Given the description of an element on the screen output the (x, y) to click on. 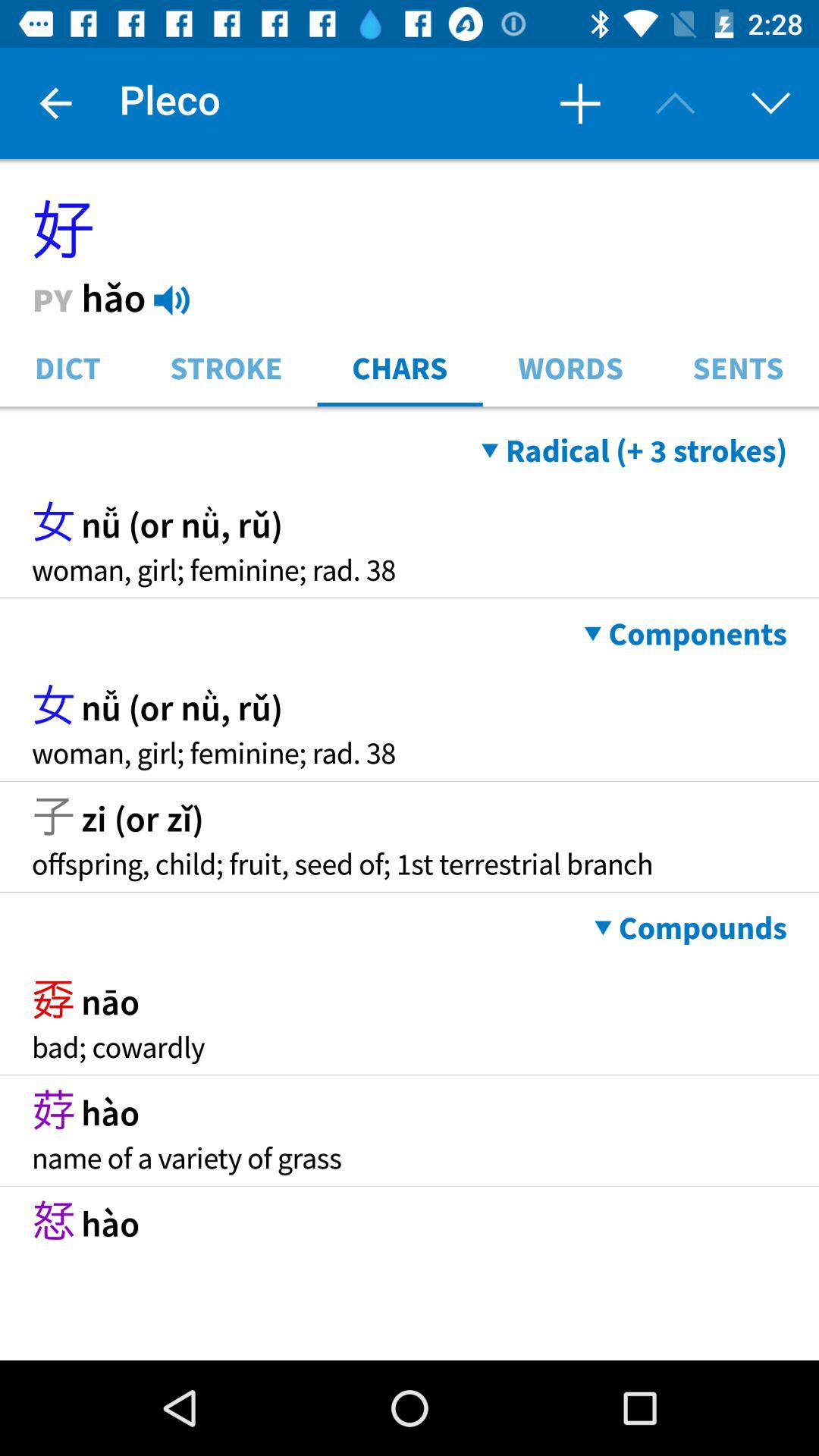
launch the  radical (+ 3 strokes) item (634, 450)
